Given the description of an element on the screen output the (x, y) to click on. 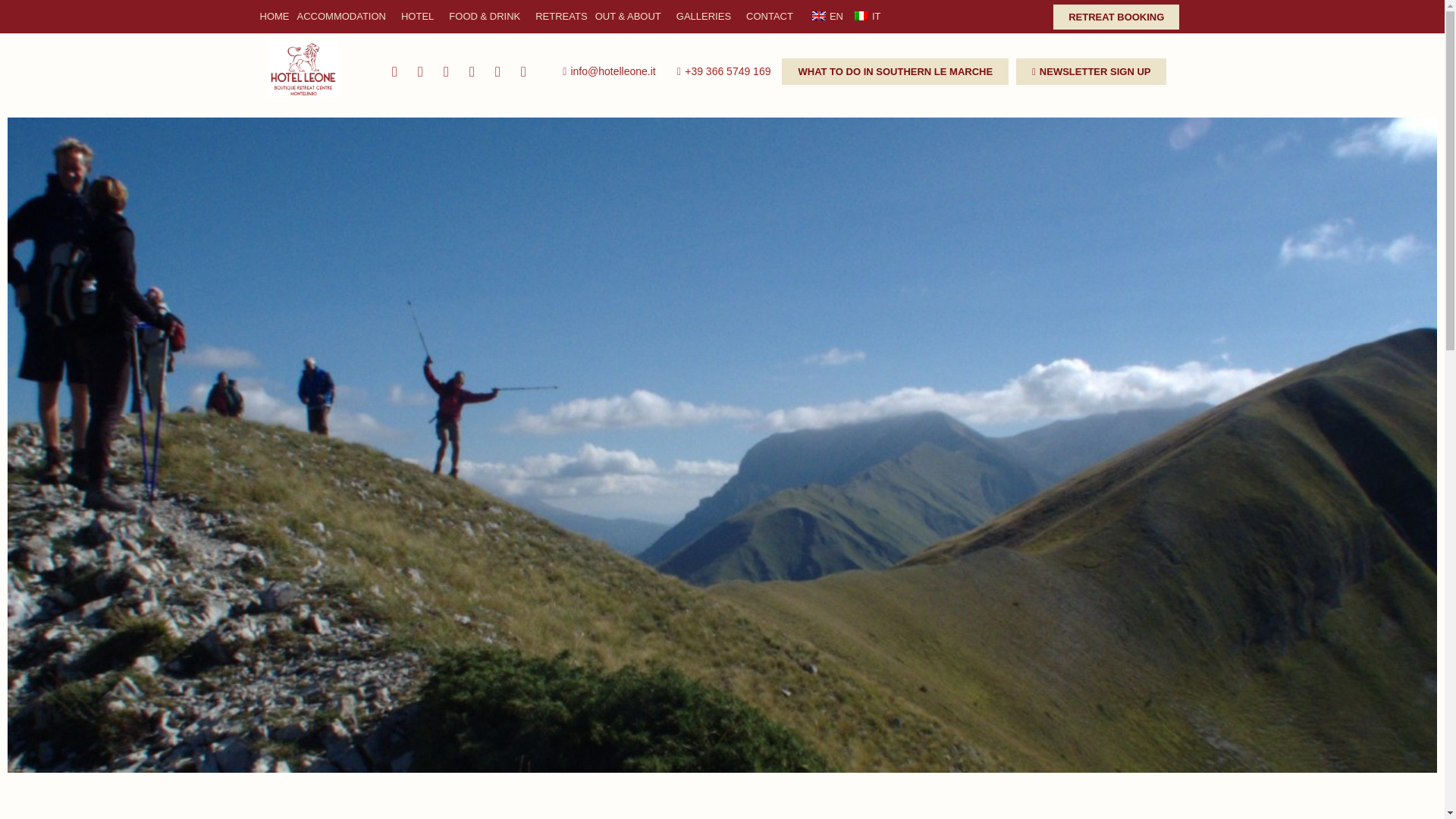
English (818, 15)
GALLERIES (707, 16)
CONTACT (773, 16)
HOTEL (421, 16)
HOME (275, 16)
RETREATS (561, 16)
IT (866, 16)
ACCOMMODATION (344, 16)
Italian (860, 15)
EN (826, 16)
